Given the description of an element on the screen output the (x, y) to click on. 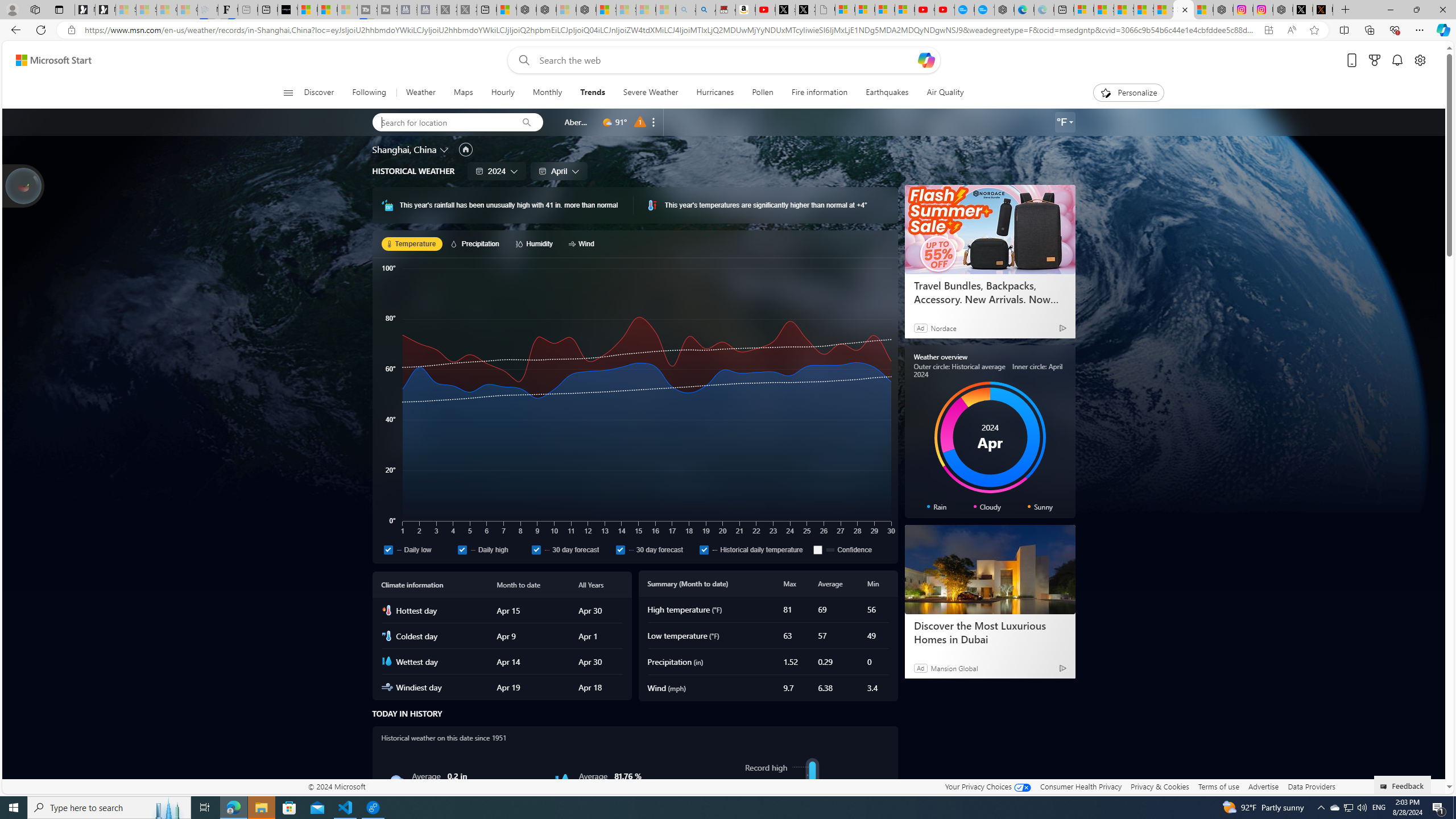
Maps (462, 92)
Mansion Global (954, 668)
Air Quality (940, 92)
The most popular Google 'how to' searches (983, 9)
Confidence (849, 549)
30 day forecast (655, 549)
Web search (520, 60)
Open navigation menu (287, 92)
